Given the description of an element on the screen output the (x, y) to click on. 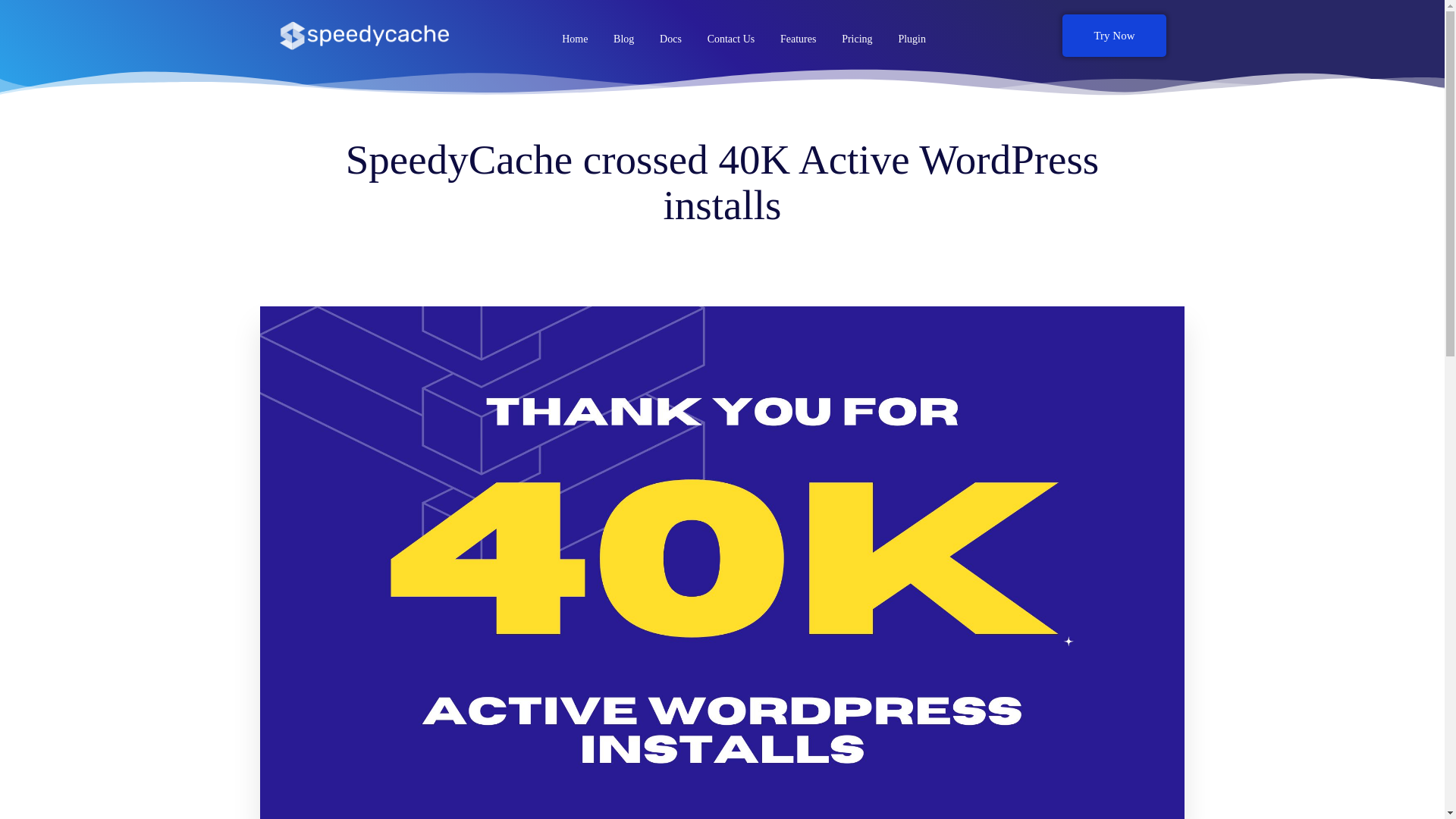
Pricing (856, 39)
Features (797, 39)
Blog (623, 39)
Try Now (1114, 35)
Docs (670, 39)
Contact Us (731, 39)
Home (574, 39)
Plugin (911, 39)
SpeedyCache Logo (363, 35)
